Given the description of an element on the screen output the (x, y) to click on. 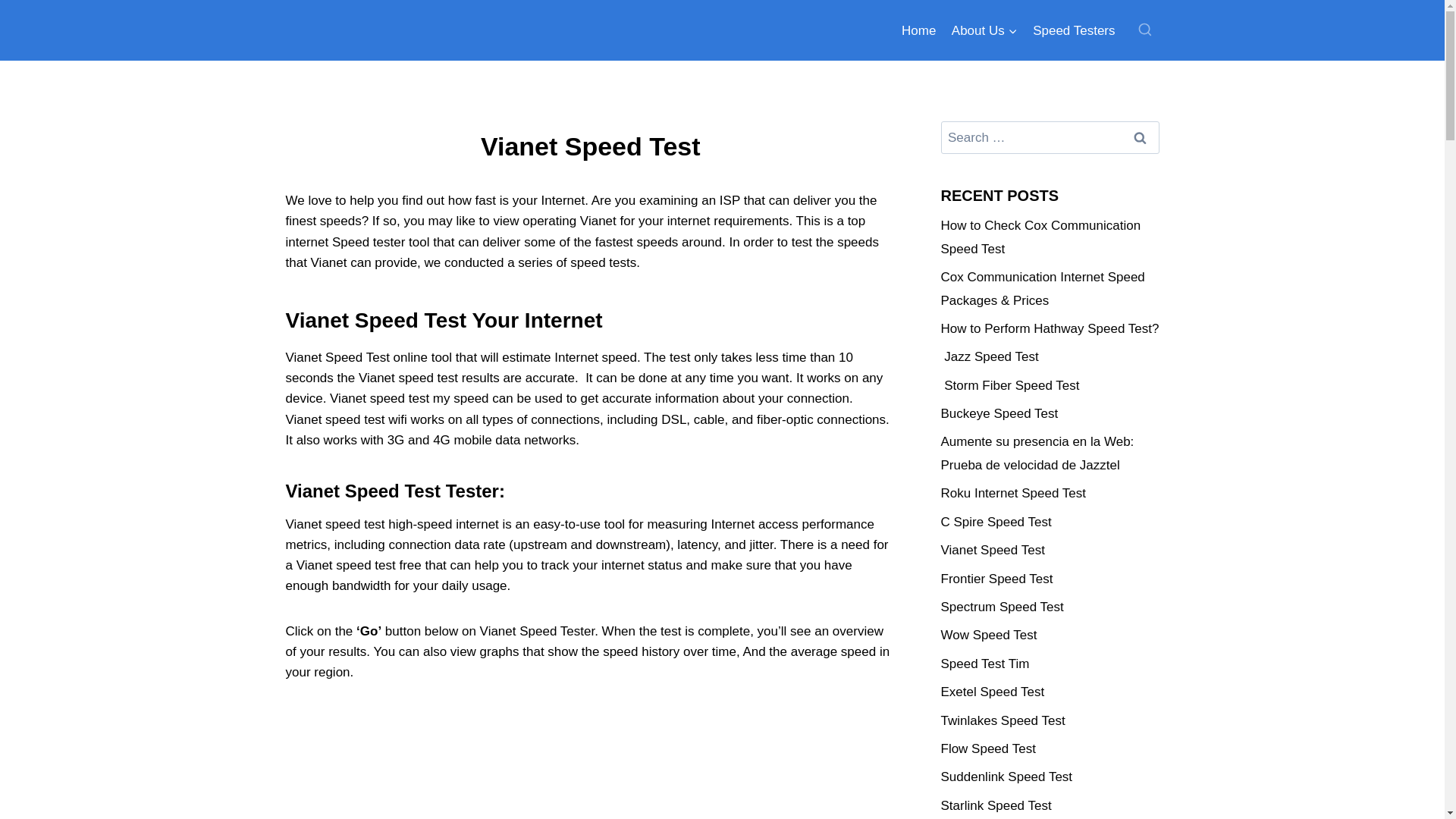
C Spire Speed Test (995, 522)
How to Perform Hathway Speed Test? (1049, 328)
Vianet Speed Test (991, 549)
Frontier Speed Test (996, 578)
Exetel Speed Test (991, 691)
Starlink Speed Test (995, 805)
Buckeye Speed Test (999, 413)
 Jazz Speed Test (989, 356)
 Storm Fiber Speed Test (1009, 385)
Search (1139, 137)
Search (1139, 137)
Flow Speed Test (987, 748)
Speed Test Tim (984, 663)
Wow Speed Test (988, 635)
Roku Internet Speed Test (1013, 493)
